Given the description of an element on the screen output the (x, y) to click on. 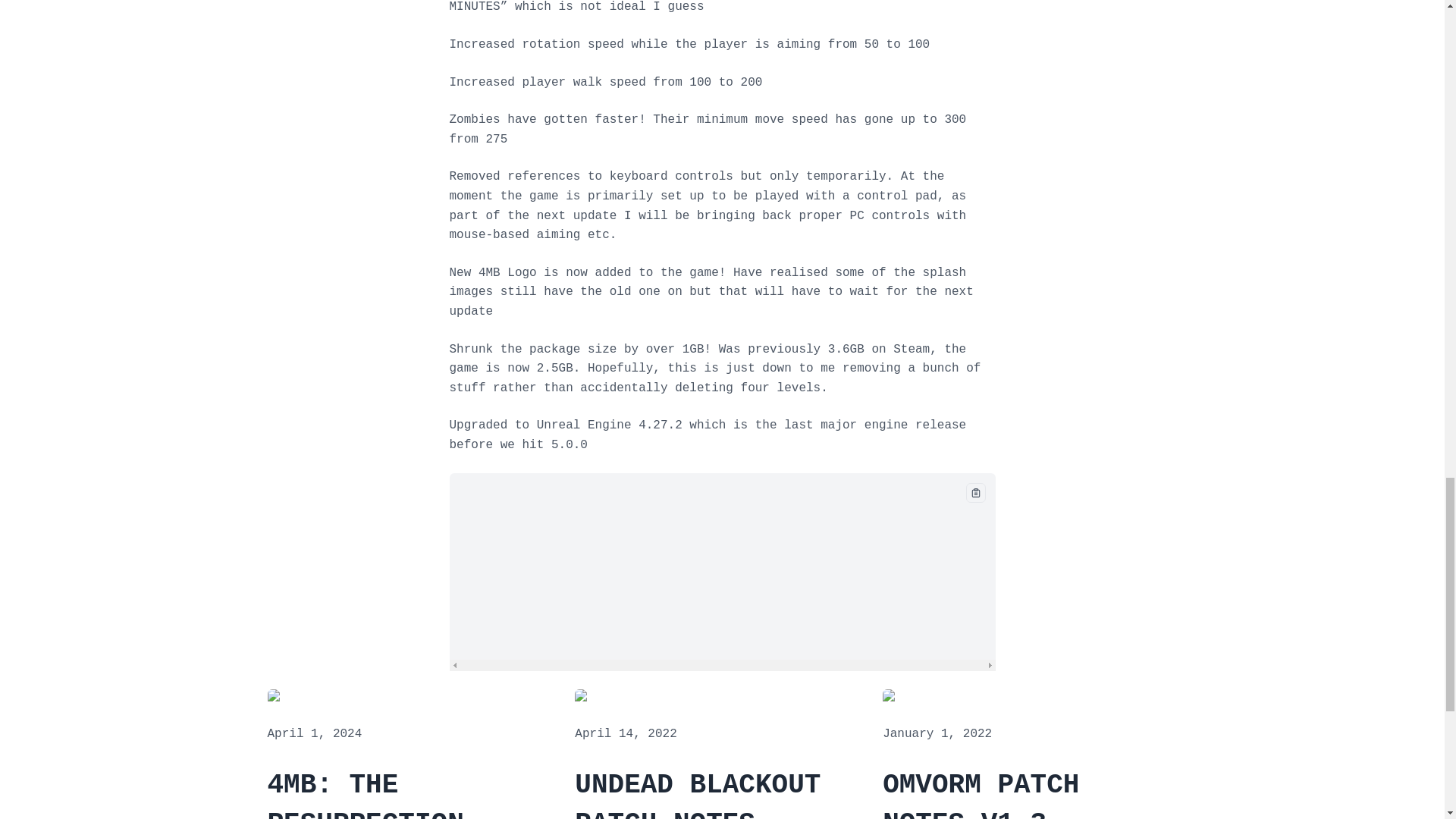
4MB: THE RESURRECTION (413, 792)
Copy to clipboard (975, 492)
OMVORM PATCH NOTES V1.3 (1029, 792)
UNDEAD BLACKOUT PATCH NOTES V3.1.0 (722, 792)
